Given the description of an element on the screen output the (x, y) to click on. 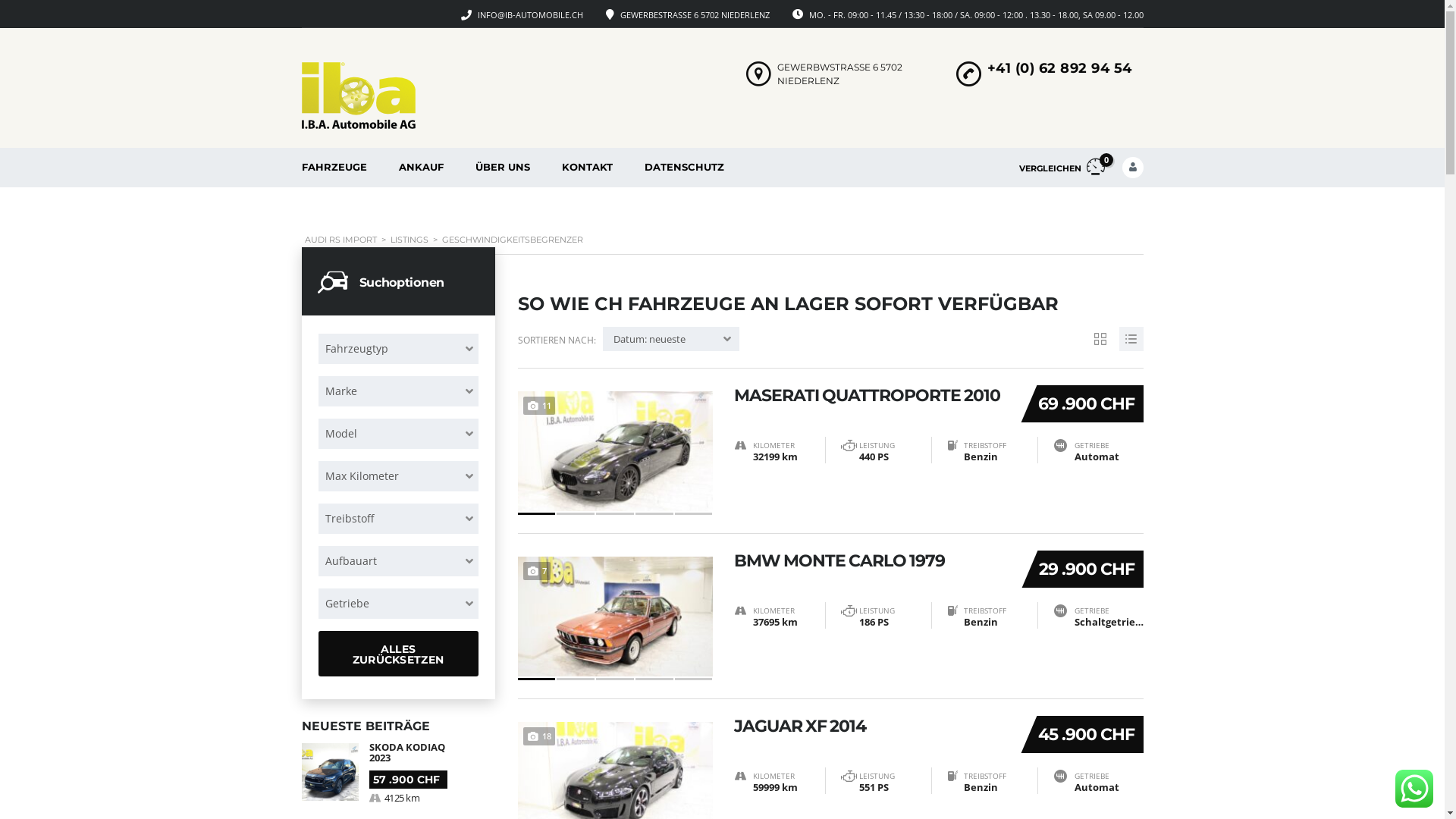
JAGUAR XF 2014 Element type: text (870, 726)
FAHRZEUGE Element type: text (333, 167)
SKODA KODIAQ 2023
57 .900 CHF
4125 km Element type: text (398, 773)
VERGLEICHEN
0 Element type: text (1060, 167)
AUDI RS IMPORT Element type: text (340, 239)
KONTAKT Element type: text (587, 167)
DATENSCHUTZ Element type: text (683, 167)
BMW MONTE CARLO 1979 Element type: text (871, 561)
LISTINGS Element type: text (408, 239)
INFO@IB-AUTOMOBILE.CH Element type: text (530, 14)
MASERATI QUATTROPORTE 2010 Element type: text (870, 395)
+41 (0) 62 892 94 54 Element type: text (1059, 67)
ANKAUF Element type: text (420, 167)
Startseite Element type: hover (358, 95)
Anmelden Element type: text (1096, 396)
